Given the description of an element on the screen output the (x, y) to click on. 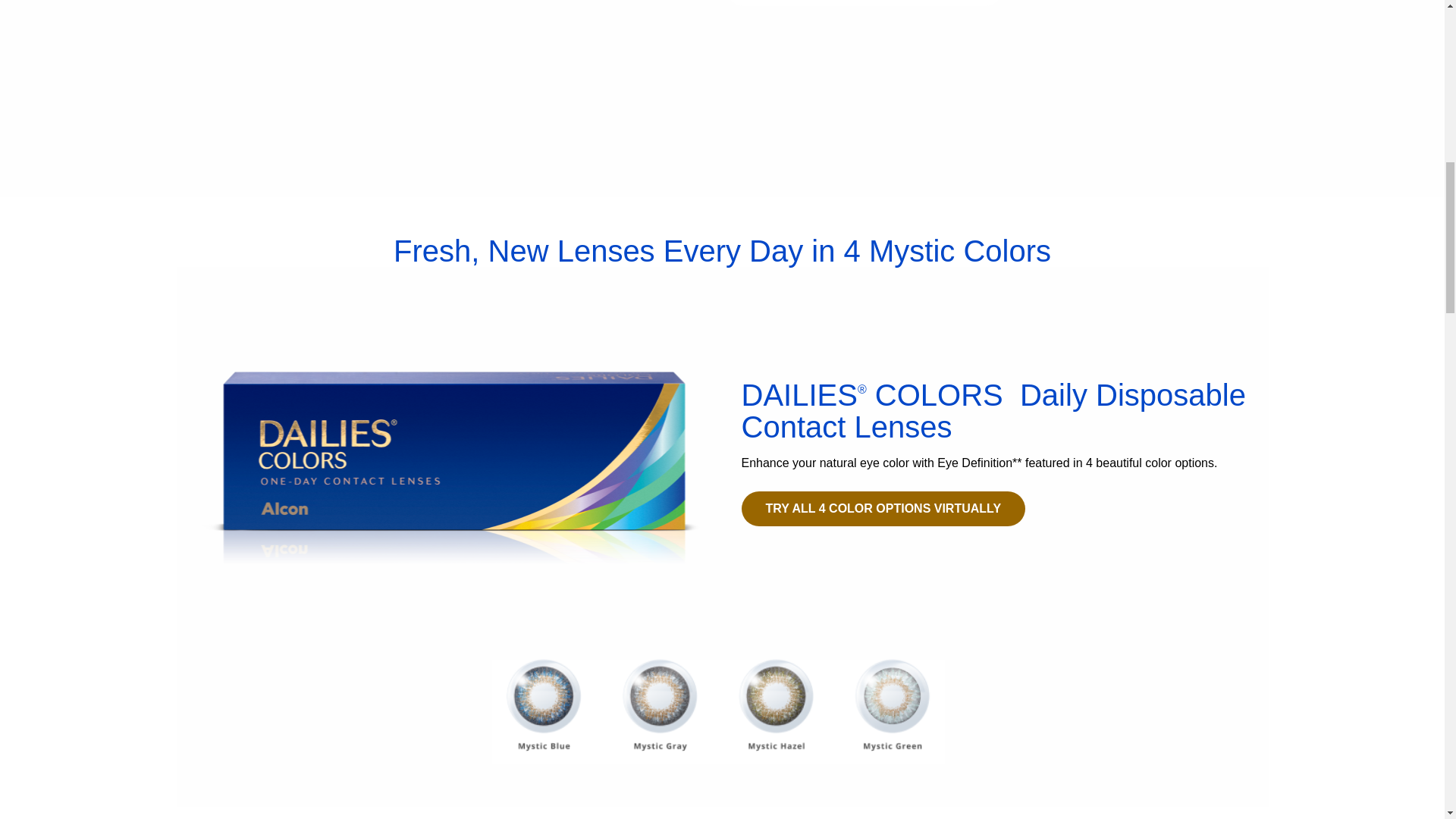
TRY ALL 4 COLOR OPTIONS VIRTUALLY (883, 508)
